Given the description of an element on the screen output the (x, y) to click on. 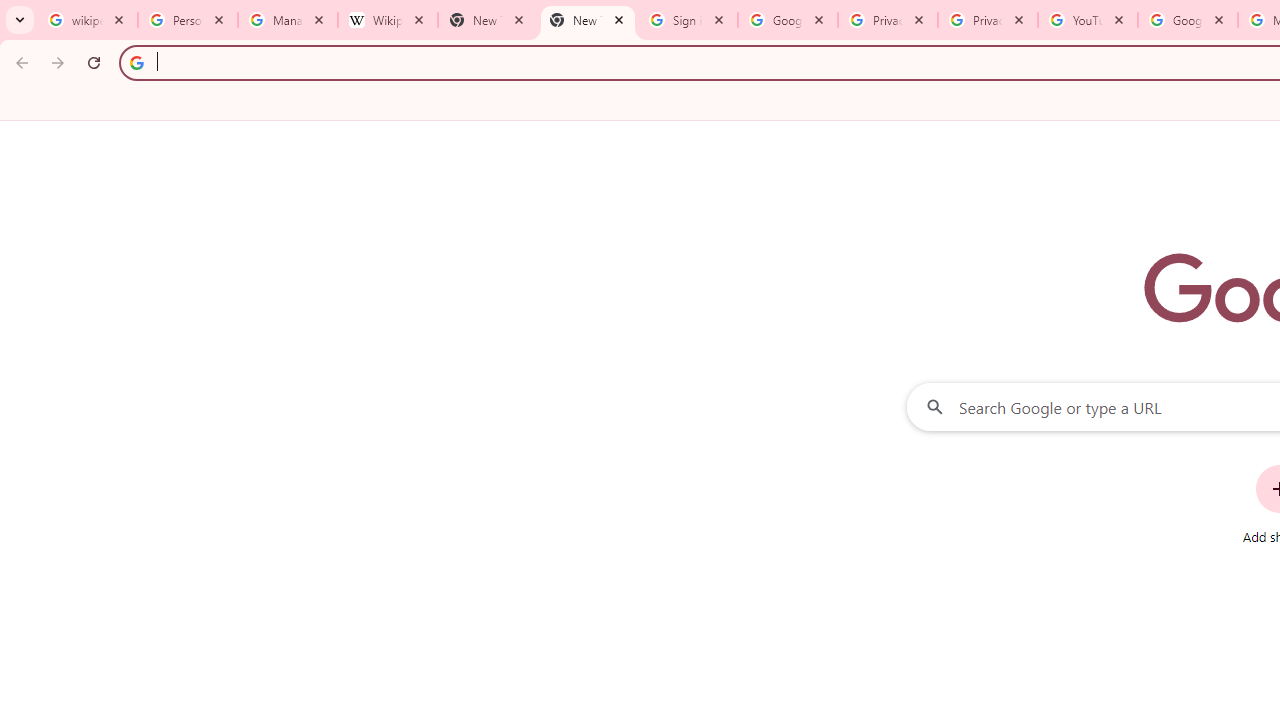
New Tab (587, 20)
Google Account Help (1187, 20)
Google Drive: Sign-in (788, 20)
Personalization & Google Search results - Google Search Help (188, 20)
